Given the description of an element on the screen output the (x, y) to click on. 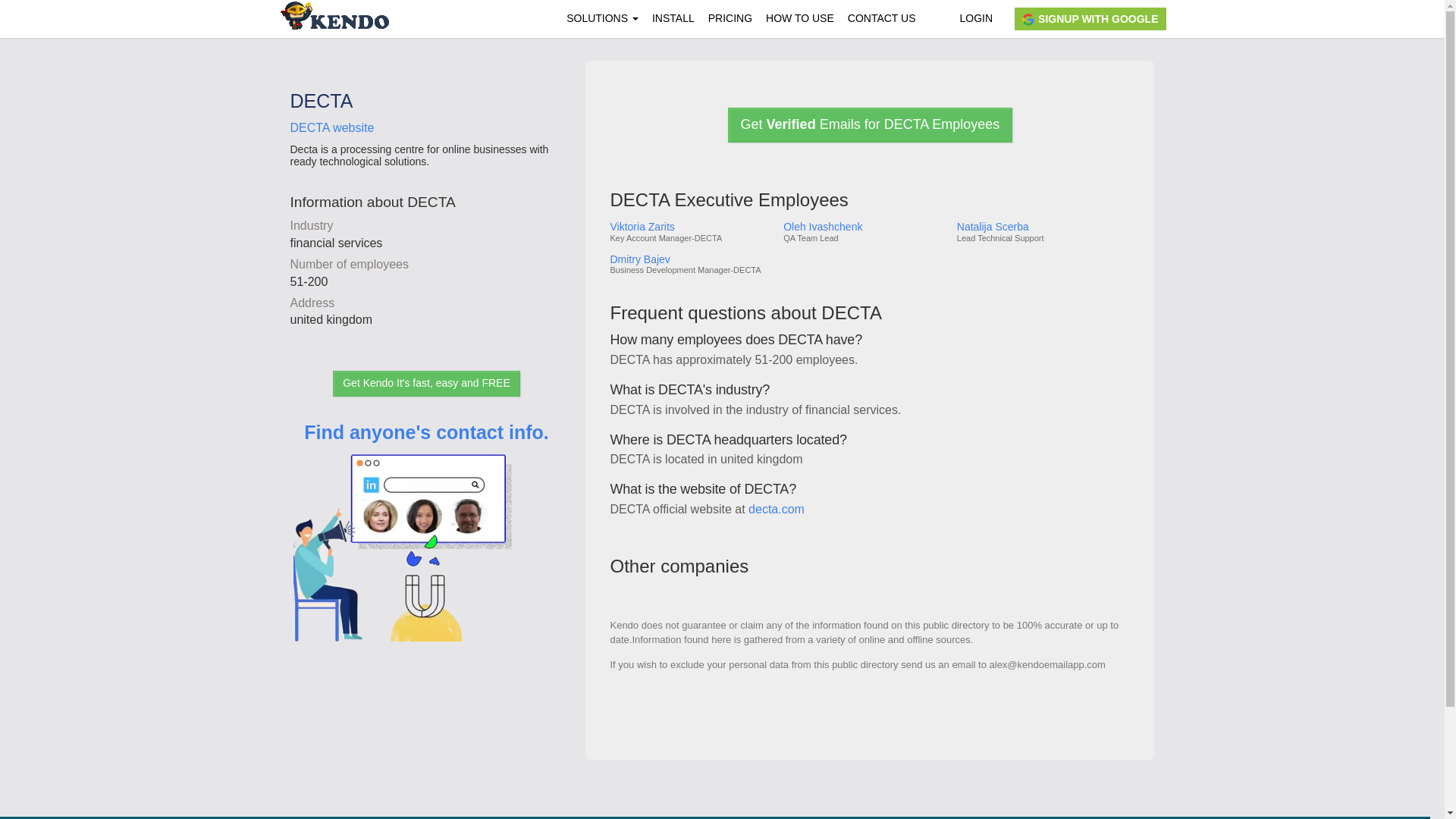
Dmitry Bajev (690, 259)
Viktoria Zarits (690, 226)
Oleh Ivashchenk (863, 226)
Get Kendo It's fast, easy and FREE (426, 383)
decta.com (776, 508)
SIGNUP WITH GOOGLE (1090, 18)
Get Verified Emails for DECTA Employees (870, 124)
CONTACT US (882, 18)
Find anyone's contact info. (425, 553)
PRICING (729, 18)
DECTA website (331, 127)
INSTALL (673, 18)
Natalija Scerba (1041, 226)
SOLUTIONS (602, 18)
LOGIN (975, 18)
